Given the description of an element on the screen output the (x, y) to click on. 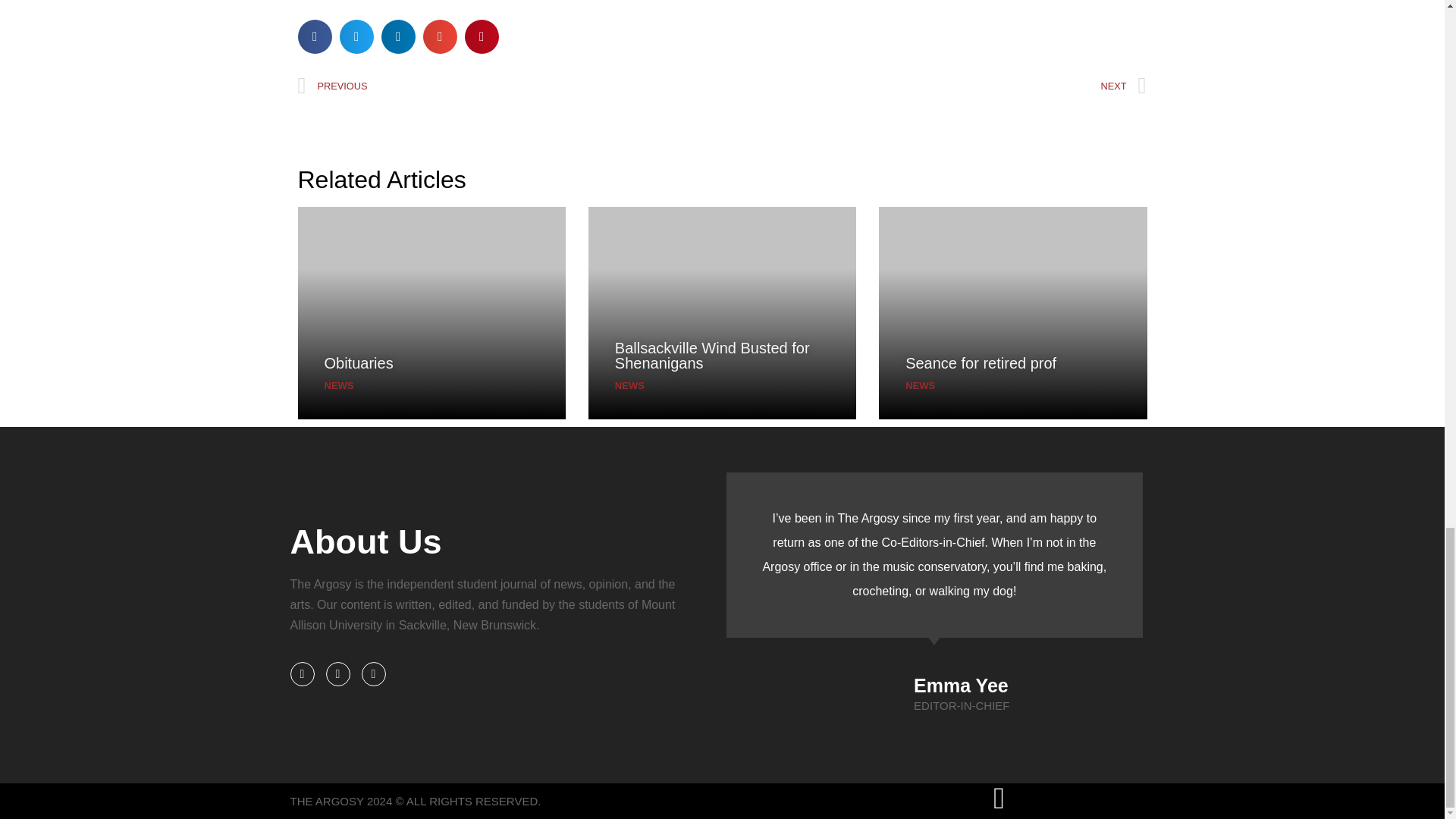
Obituaries (358, 362)
Ballsackville Wind Busted for Shenanigans (711, 355)
NEXT (934, 85)
PREVIOUS (509, 85)
Seance for retired prof (981, 362)
